Given the description of an element on the screen output the (x, y) to click on. 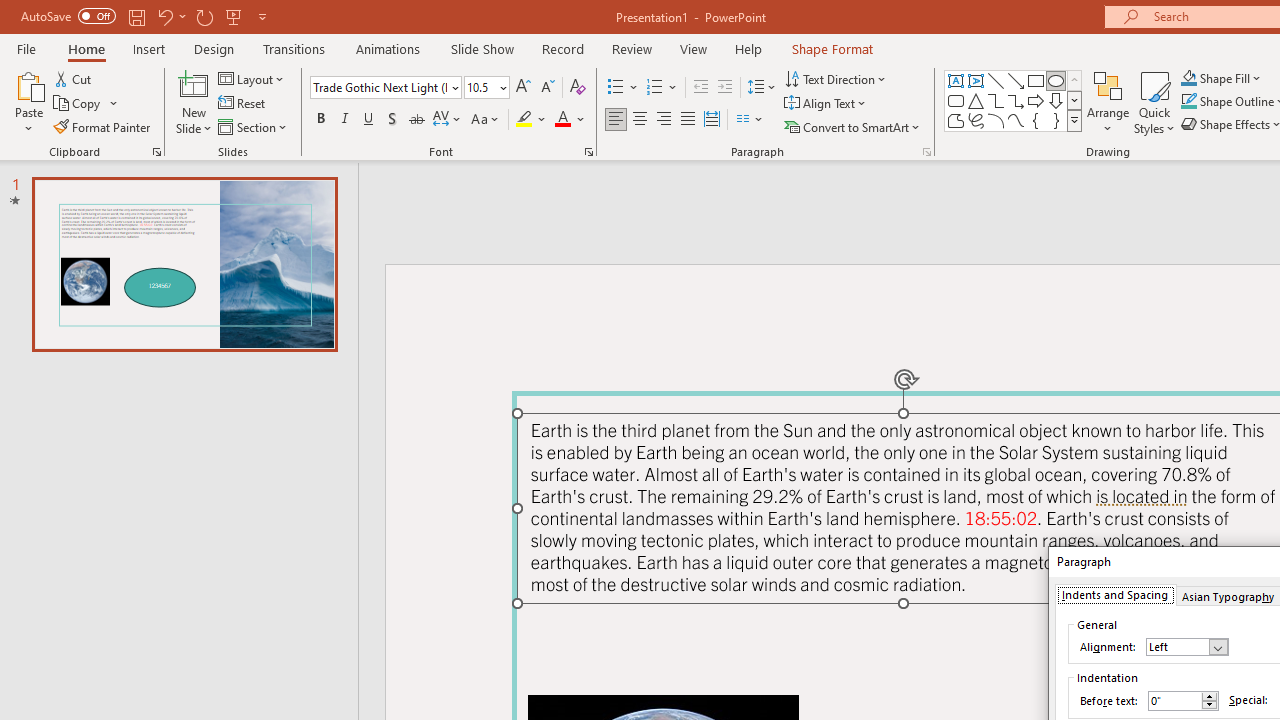
Before text (1174, 700)
